Given the description of an element on the screen output the (x, y) to click on. 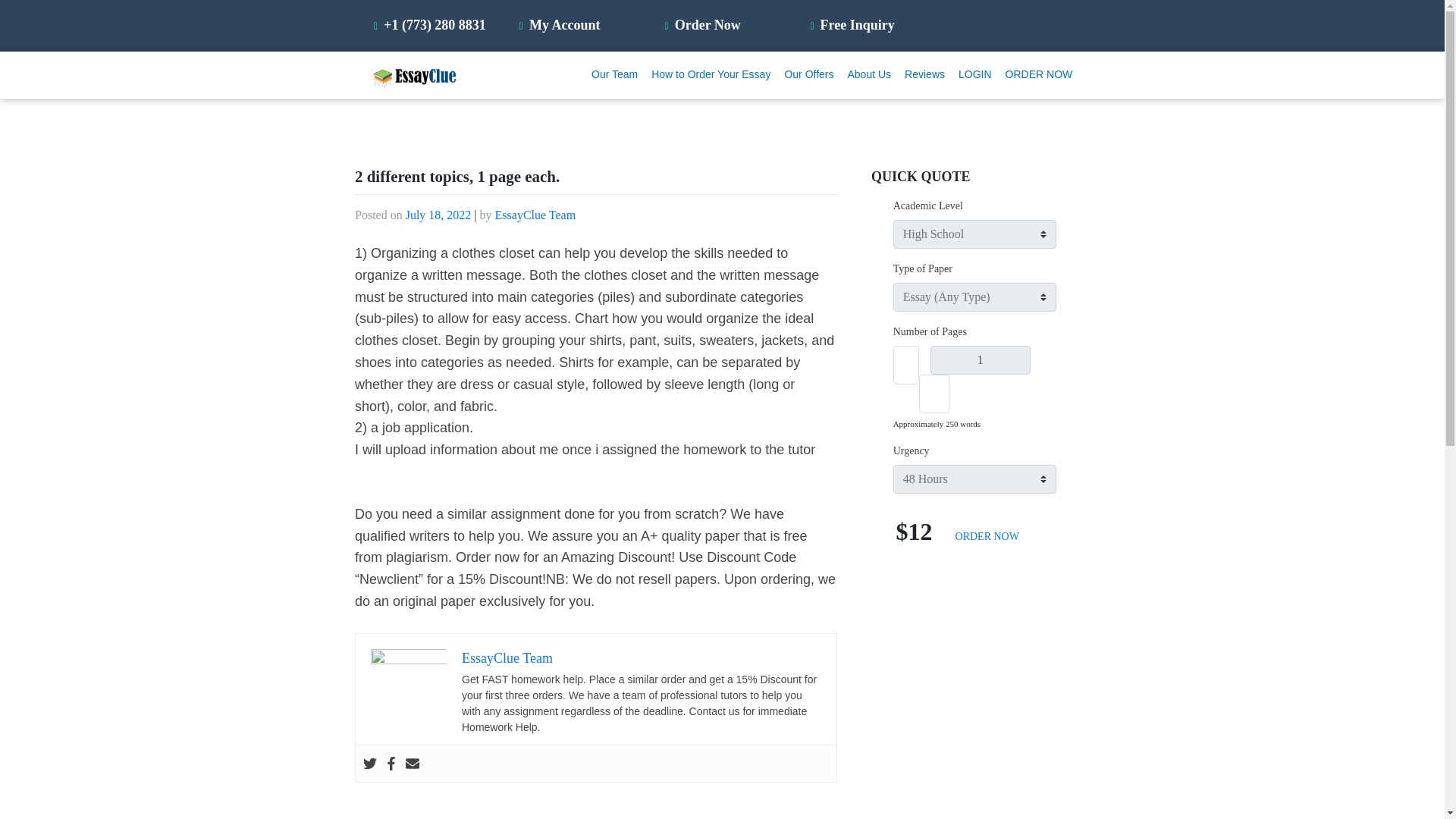
Free Inquiry (854, 24)
Our Offers (809, 74)
My Account (560, 24)
Reviews (925, 74)
About Us (870, 74)
ORDER NOW (1039, 74)
Our Offers (809, 74)
How to Order Your Essay (711, 74)
LOGIN (975, 74)
ORDER NOW (987, 536)
July 18, 2022 (438, 214)
About Us (870, 74)
User email (412, 763)
EssayClue Team (507, 657)
Twitter (369, 763)
